Given the description of an element on the screen output the (x, y) to click on. 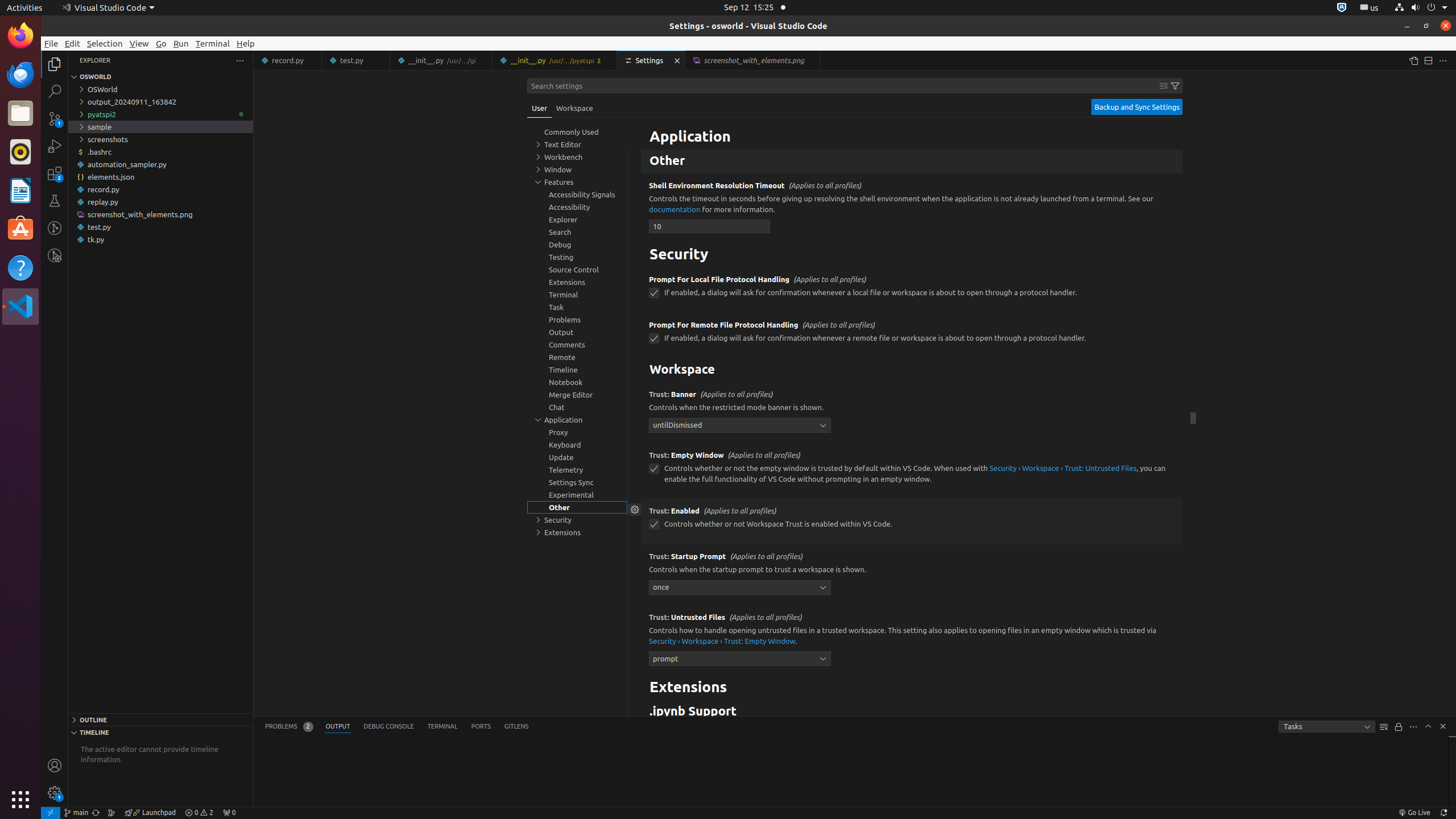
.bashrc Element type: tree-item (160, 151)
Output, group Element type: tree-item (577, 331)
Problems, group Element type: tree-item (577, 319)
Show the GitLens Commit Graph Element type: push-button (111, 812)
Comments, group Element type: tree-item (577, 344)
